Given the description of an element on the screen output the (x, y) to click on. 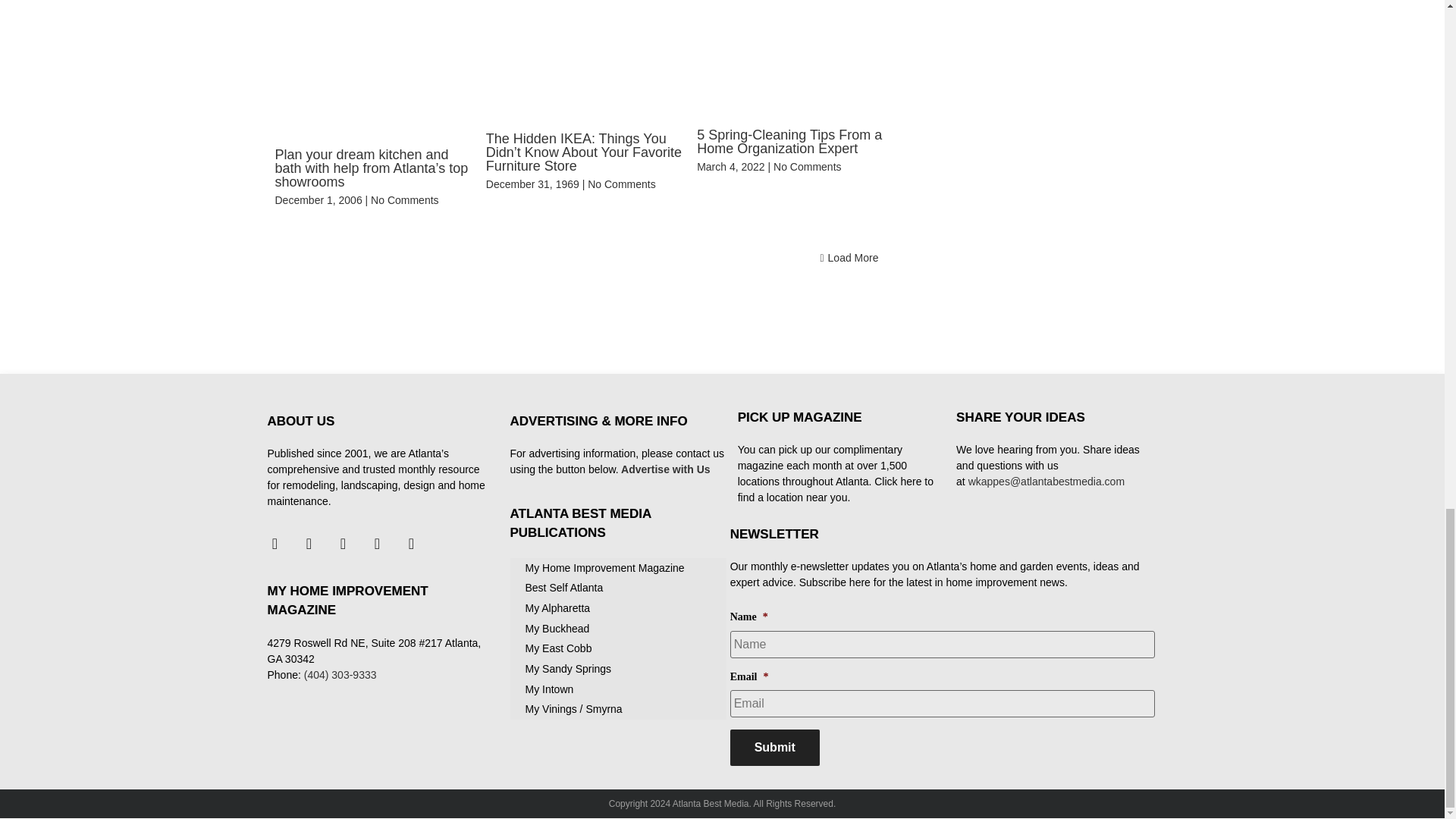
Submit (774, 747)
